Given the description of an element on the screen output the (x, y) to click on. 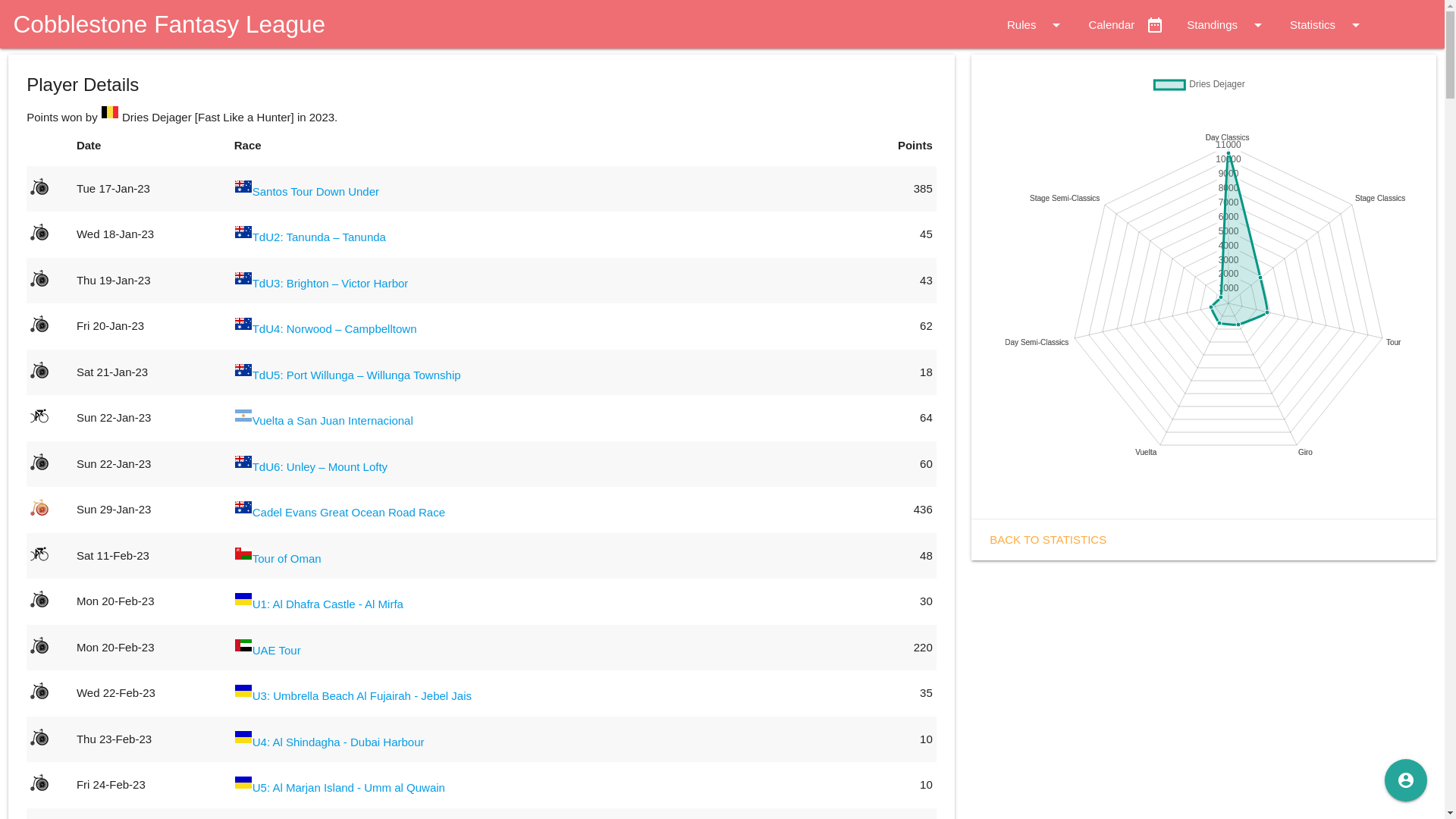
Tour of Oman Element type: text (286, 558)
Vuelta a San Juan Internacional Element type: text (332, 420)
U5: Al Marjan Island - Umm al Quwain Element type: text (348, 787)
arrow_drop_down
Standings Element type: text (1226, 24)
BACK TO STATISTICS Element type: text (1047, 538)
U3: Umbrella Beach Al Fujairah - Jebel Jais Element type: text (361, 695)
Santos Tour Down Under Element type: text (315, 191)
arrow_drop_down
Statistics Element type: text (1327, 24)
U4: Al Shindagha - Dubai Harbour Element type: text (338, 741)
UAE Tour Element type: text (276, 649)
  Cobblestone Fantasy League Element type: text (162, 24)
date_range
Calendar Element type: text (1125, 24)
U1: Al Dhafra Castle - Al Mirfa Element type: text (327, 603)
account_circle Element type: text (1405, 780)
arrow_drop_down
       Rules Element type: text (1025, 24)
Cadel Evans Great Ocean Road Race Element type: text (348, 511)
